Given the description of an element on the screen output the (x, y) to click on. 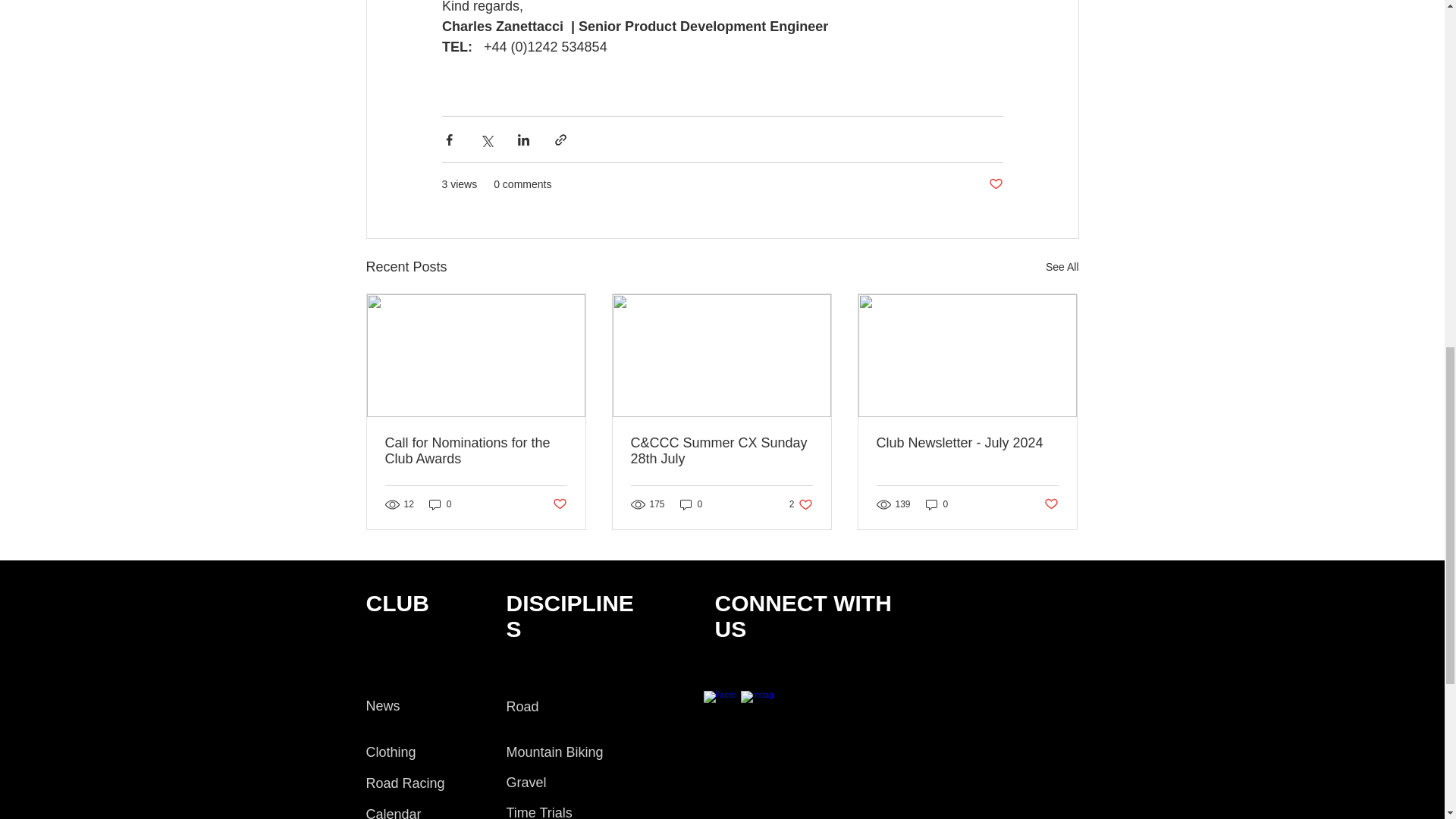
Post not marked as liked (558, 503)
Post not marked as liked (995, 184)
0 (440, 504)
0 (691, 504)
Clothing (389, 752)
See All (1061, 267)
0 (937, 504)
Calendar (392, 812)
Call for Nominations for the Club Awards (800, 504)
Club Newsletter - July 2024 (476, 450)
Post not marked as liked (967, 442)
Road Racing (1050, 503)
News (404, 783)
